Given the description of an element on the screen output the (x, y) to click on. 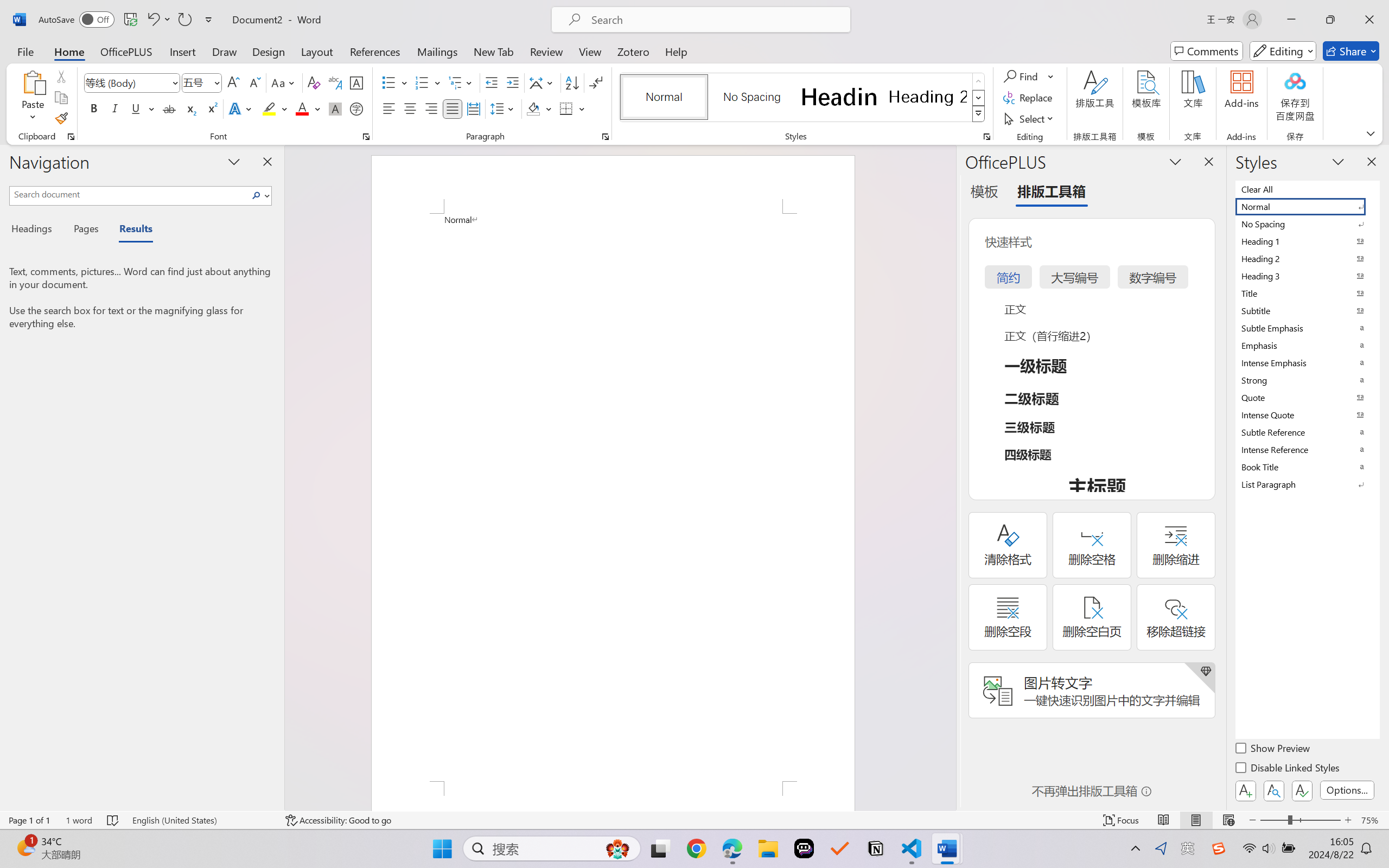
Borders (571, 108)
Row Down (978, 97)
Line and Paragraph Spacing (503, 108)
Clear Formatting (313, 82)
Close (1369, 19)
Styles (978, 113)
Subtitle (1306, 310)
Numbering (428, 82)
Borders (566, 108)
Web Layout (1228, 819)
Restore Down (1330, 19)
Read Mode (1163, 819)
